Given the description of an element on the screen output the (x, y) to click on. 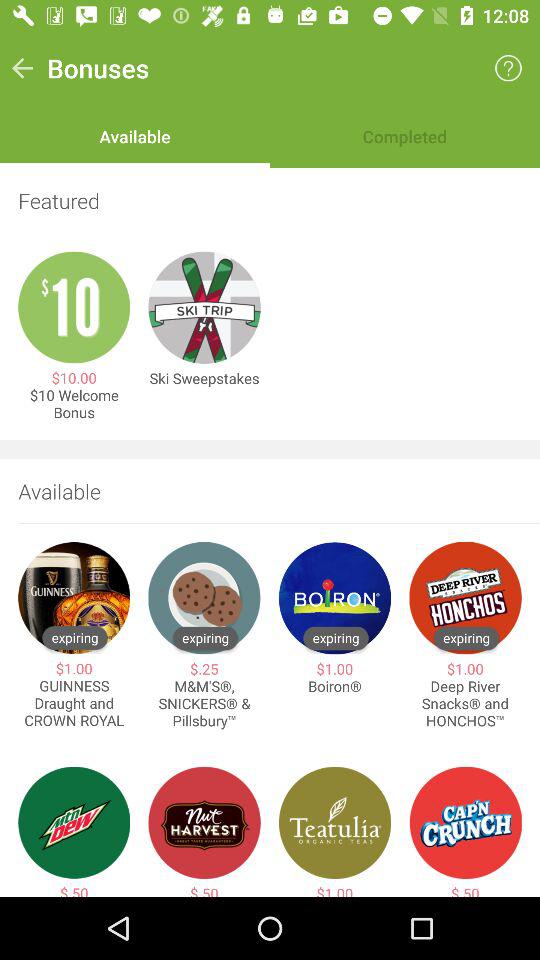
choose item below the $10 welcome bonus item (270, 449)
